Given the description of an element on the screen output the (x, y) to click on. 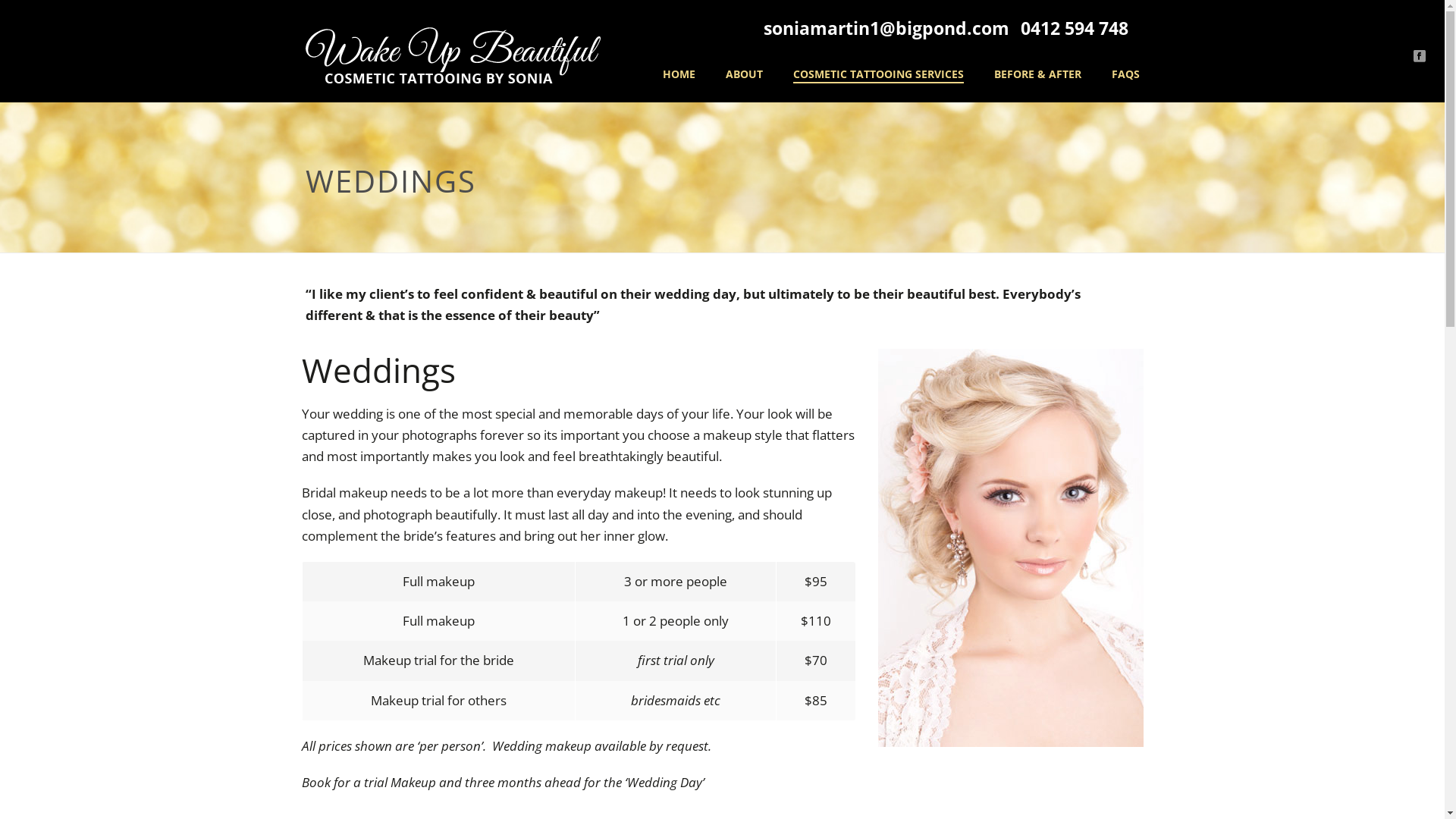
HOME Element type: text (678, 74)
Cosmetic Tattooing Gold Coast Element type: hover (451, 55)
0412 594 748 Element type: text (1074, 27)
COSMETIC TATTOOING SERVICES Element type: text (878, 74)
ABOUT Element type: text (743, 74)
BEFORE & AFTER Element type: text (1036, 74)
soniamartin1@bigpond.com Element type: text (885, 27)
FAQS Element type: text (1125, 74)
